Given the description of an element on the screen output the (x, y) to click on. 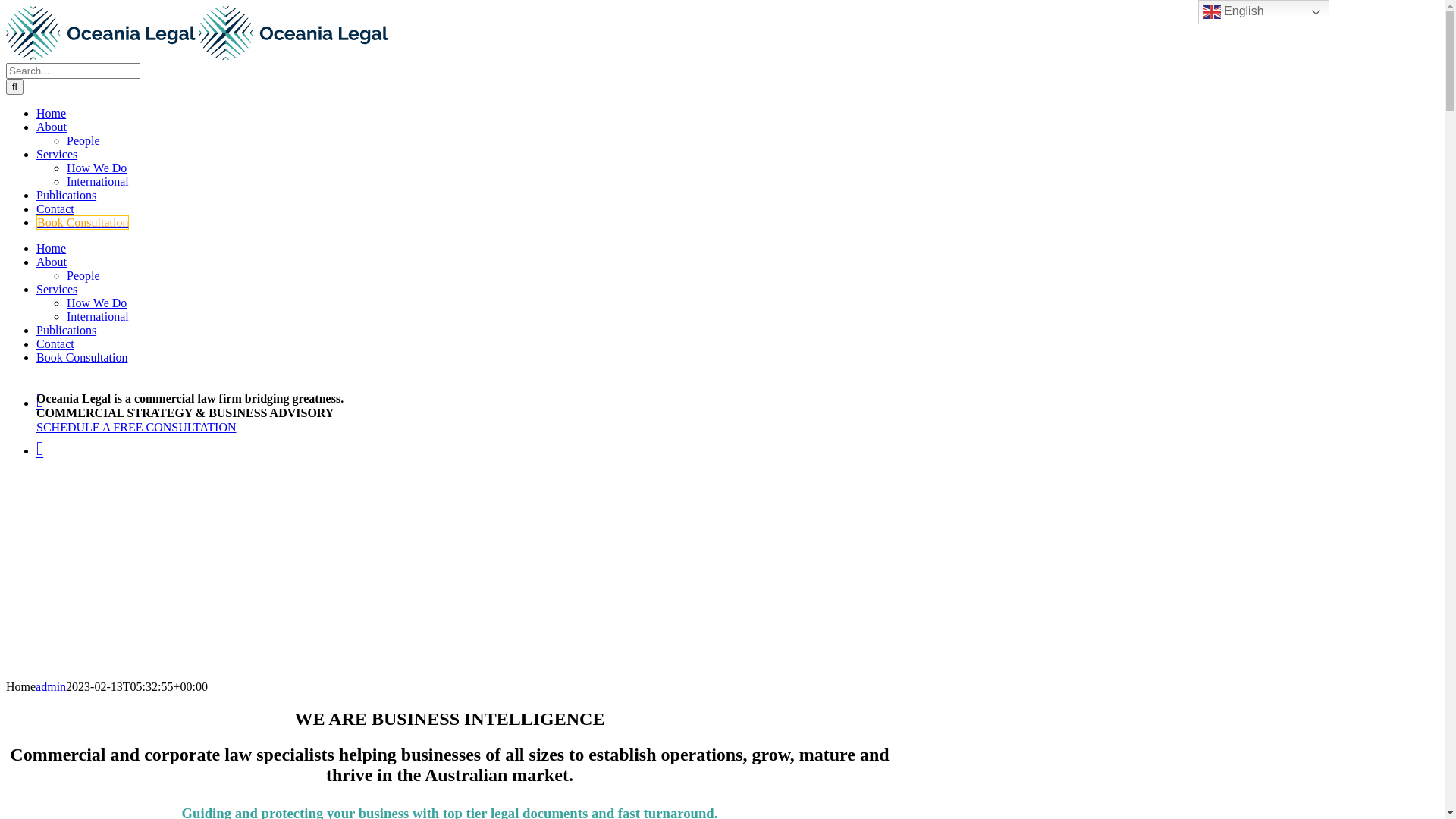
Book Consultation Element type: text (82, 222)
People Element type: text (83, 140)
About Element type: text (51, 261)
International Element type: text (97, 316)
Services Element type: text (56, 288)
Book Consultation Element type: text (81, 357)
Contact Element type: text (55, 208)
Services Element type: text (56, 153)
International Element type: text (97, 181)
About Element type: text (51, 126)
Skip to content Element type: text (5, 5)
How We Do Element type: text (96, 167)
Home Element type: text (50, 247)
Publications Element type: text (66, 329)
English Element type: text (1263, 12)
SCHEDULE A FREE CONSULTATION Element type: text (135, 426)
People Element type: text (83, 275)
Publications Element type: text (66, 194)
How We Do Element type: text (96, 302)
Contact Element type: text (55, 343)
admin Element type: text (50, 686)
Home Element type: text (50, 112)
